Given the description of an element on the screen output the (x, y) to click on. 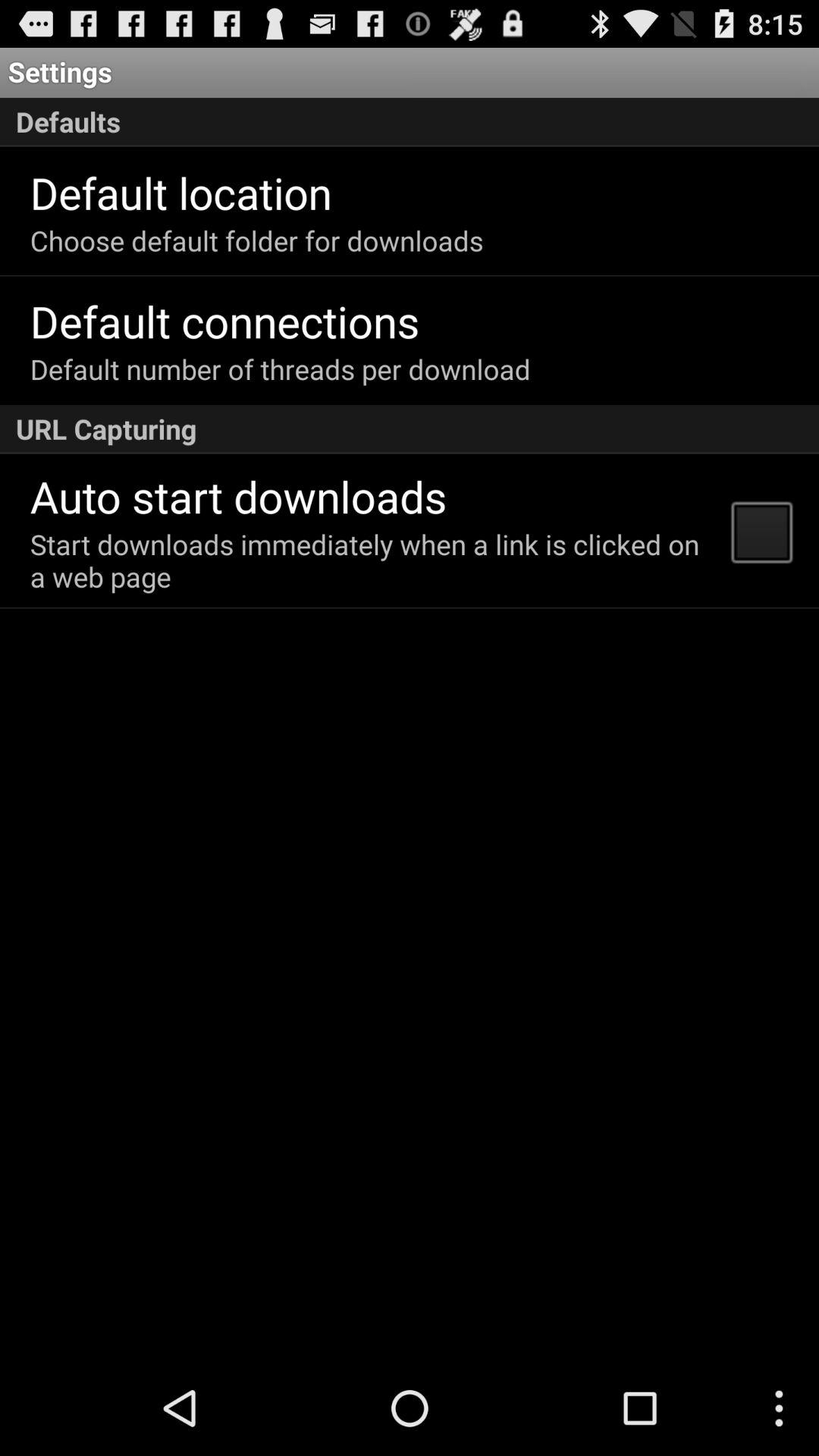
click the url capturing (409, 428)
